Given the description of an element on the screen output the (x, y) to click on. 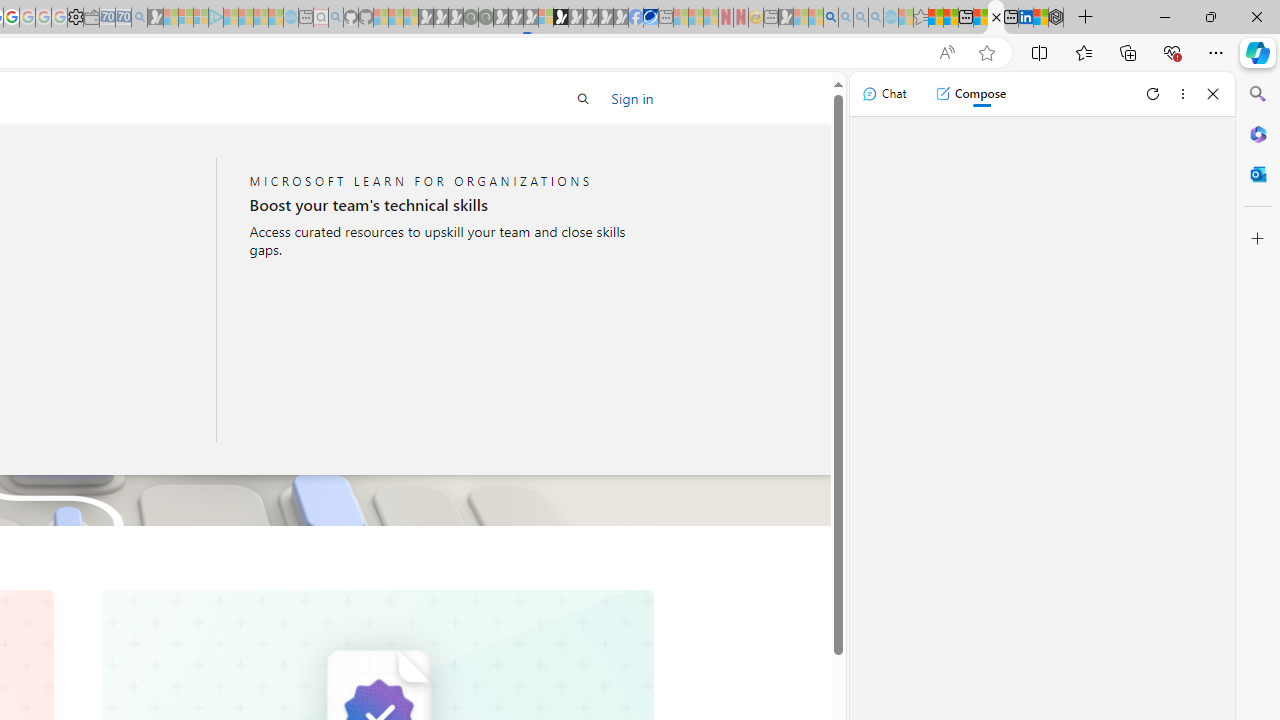
AQI & Health | AirNow.gov (650, 17)
Aberdeen, Hong Kong SAR weather forecast | Microsoft Weather (950, 17)
